Given the description of an element on the screen output the (x, y) to click on. 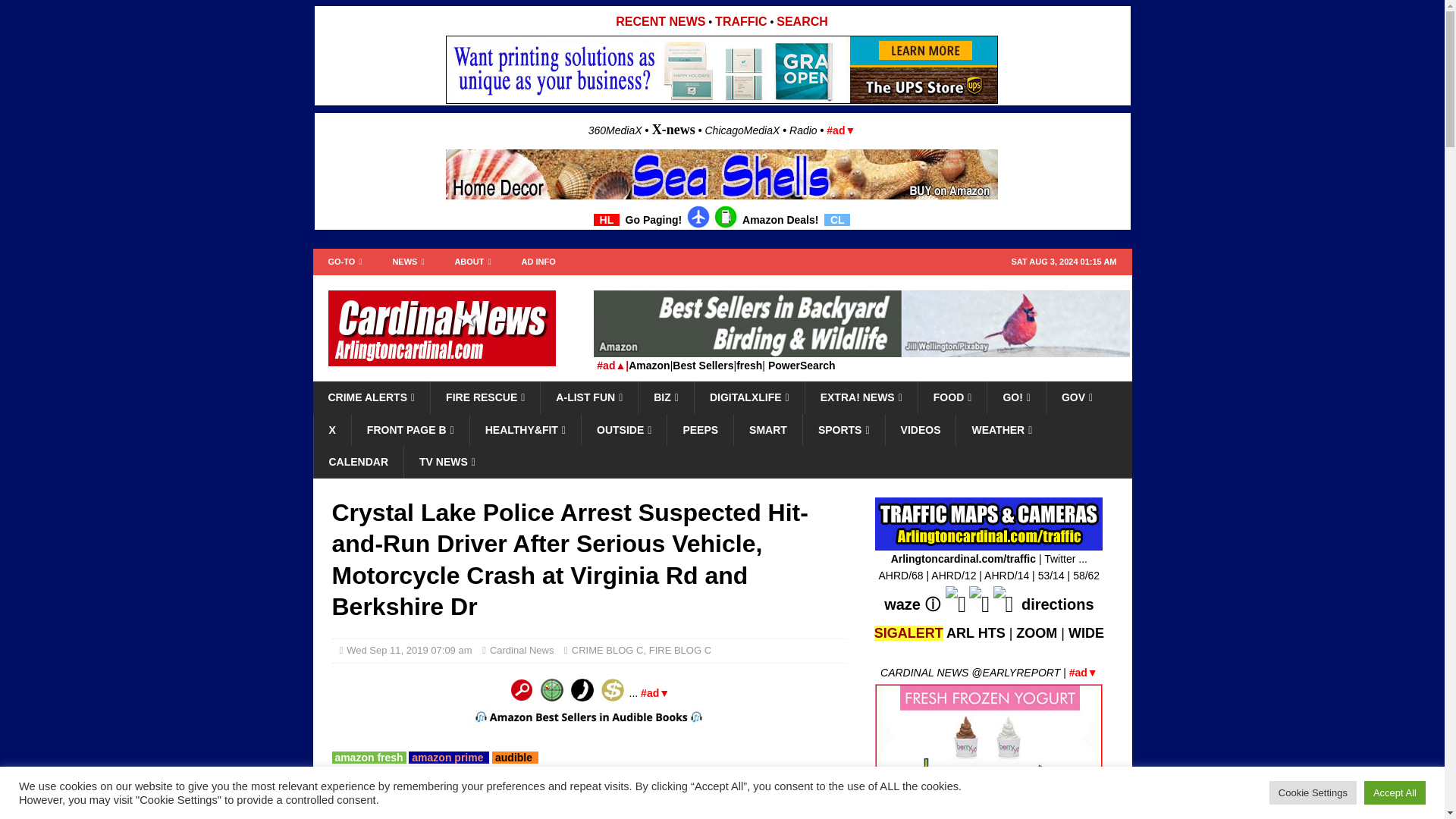
TRAFFIC (740, 21)
Amazon Deals! (780, 219)
ChicagoMediaX (742, 130)
  HL   (607, 219)
  CL   (837, 219)
Go Paging! (654, 219)
SEARCH (802, 21)
RECENT NEWS (659, 21)
X-news (673, 129)
360MediaX (616, 130)
